Given the description of an element on the screen output the (x, y) to click on. 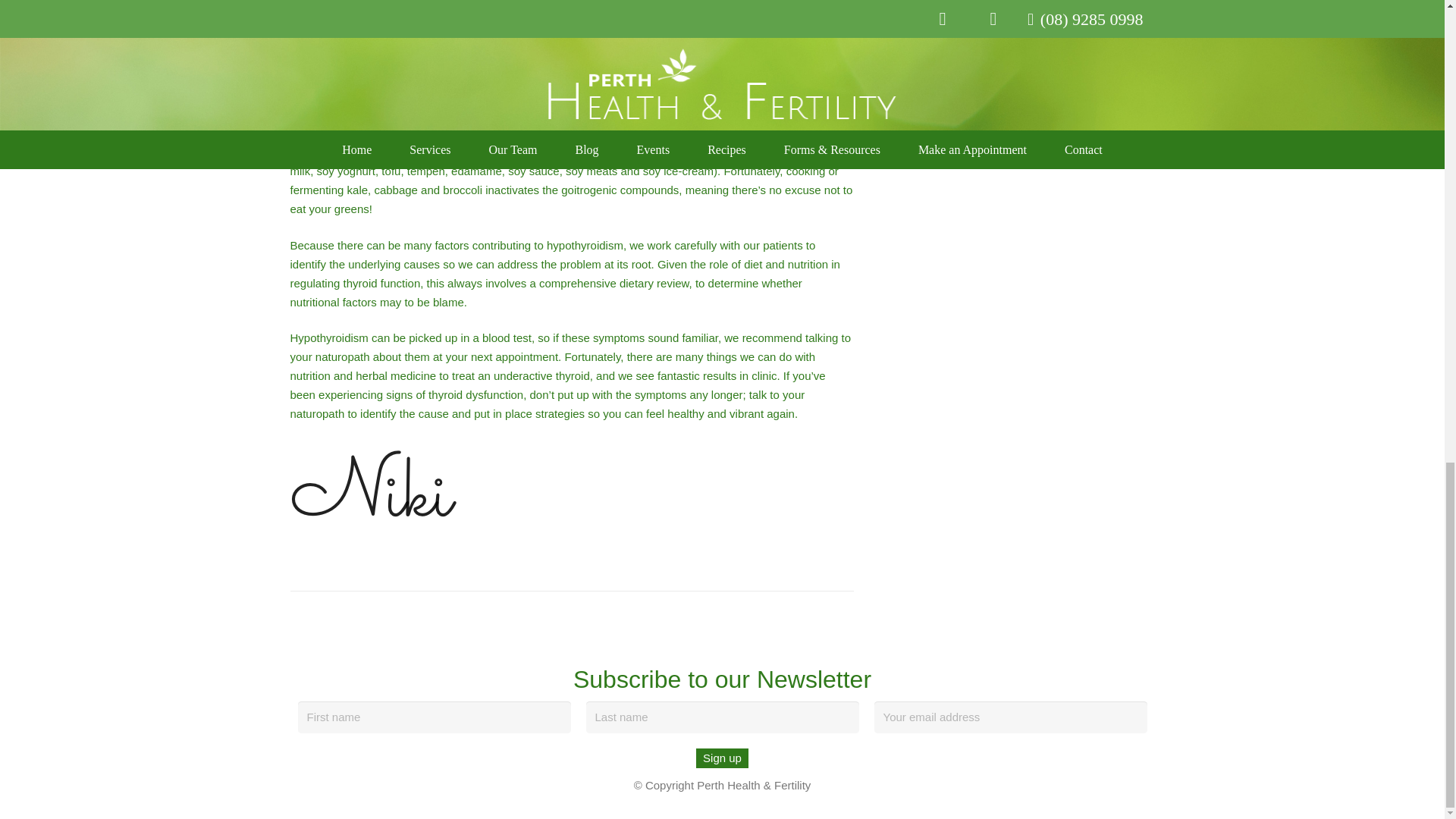
Sign up (721, 758)
Sign up (721, 758)
